Given the description of an element on the screen output the (x, y) to click on. 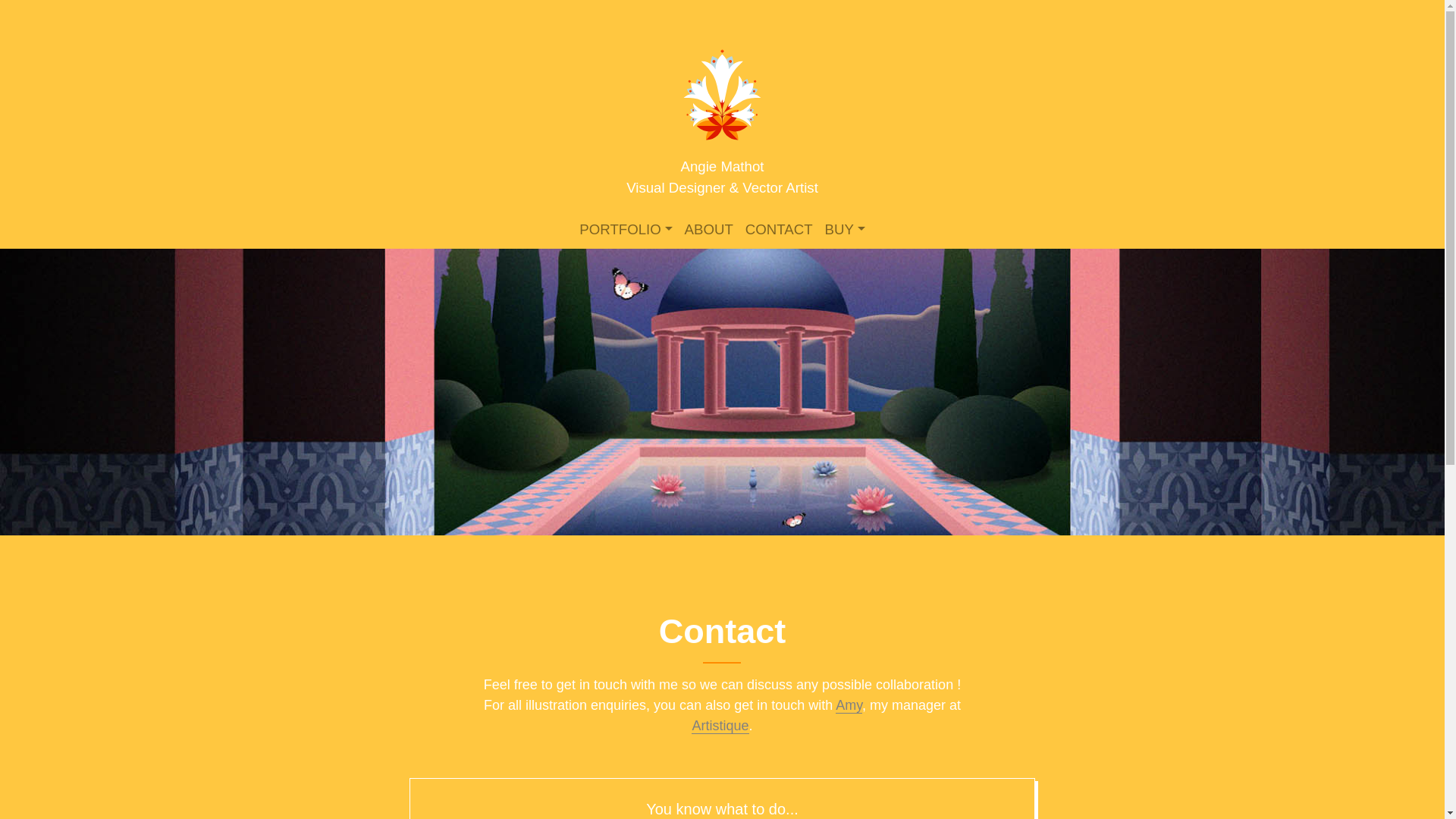
Amy (848, 705)
PORTFOLIO (625, 229)
ABOUT (708, 229)
CONTACT (778, 229)
BUY (844, 229)
Artistique (719, 725)
